Given the description of an element on the screen output the (x, y) to click on. 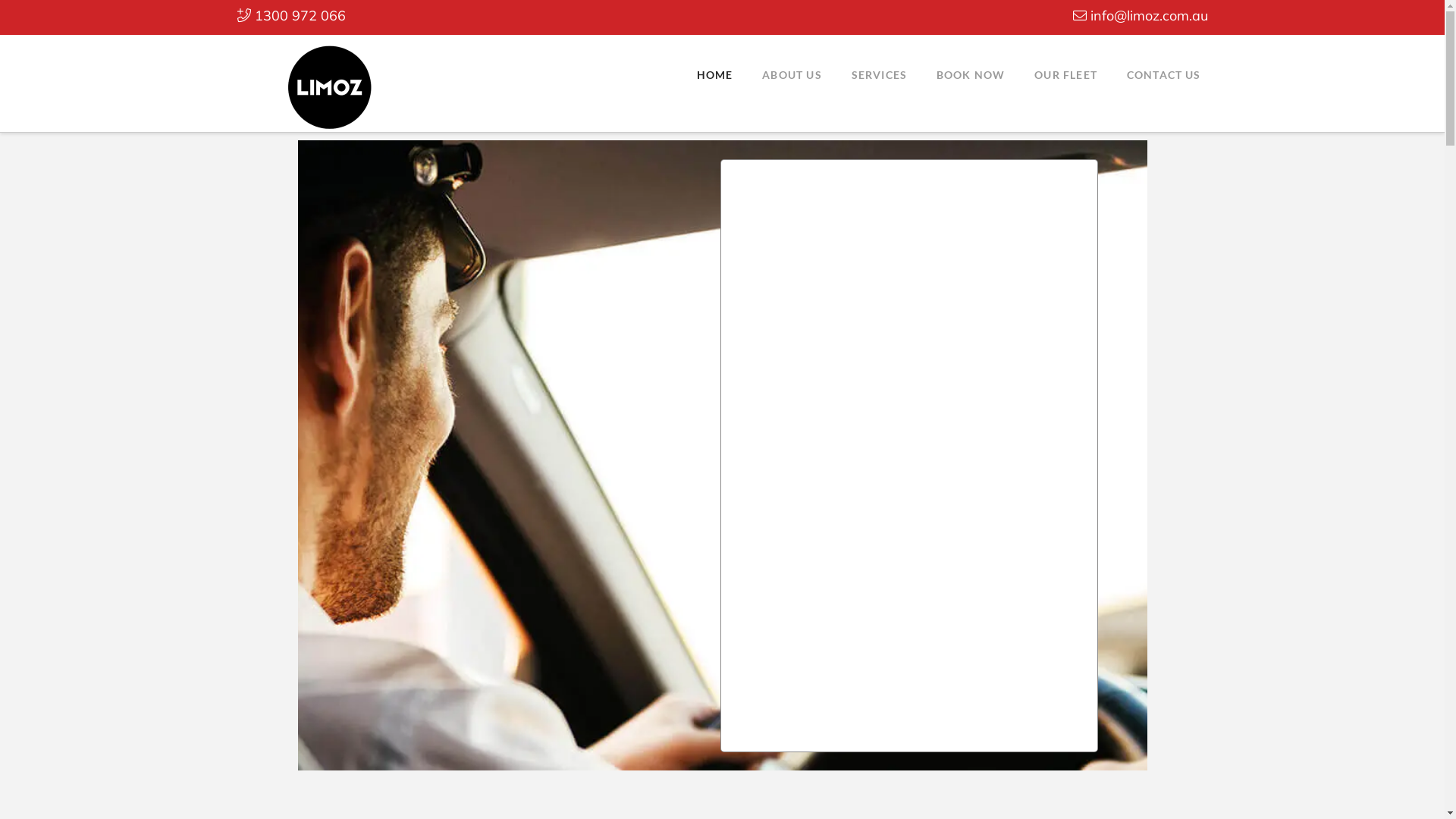
HOME Element type: text (714, 72)
1300 972 066 Element type: text (290, 15)
info@limoz.com.au Element type: text (1139, 15)
CONTACT US Element type: text (1163, 72)
OUR FLEET Element type: text (1065, 72)
ABOUT US Element type: text (790, 72)
SERVICES Element type: text (878, 72)
BOOK NOW Element type: text (970, 72)
